Given the description of an element on the screen output the (x, y) to click on. 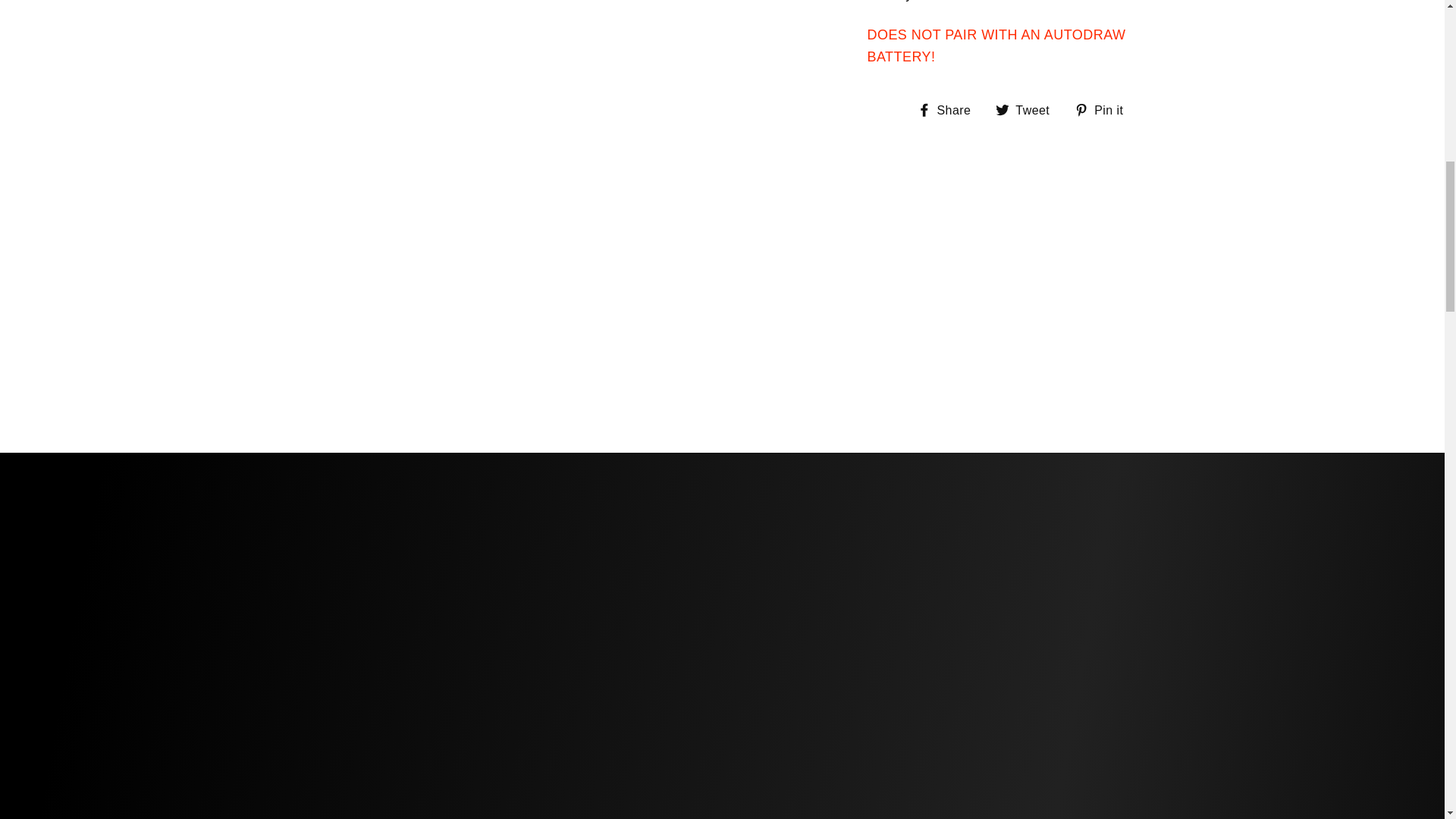
Share on Facebook (949, 109)
Pin on Pinterest (1104, 109)
Tweet on Twitter (1028, 109)
